Given the description of an element on the screen output the (x, y) to click on. 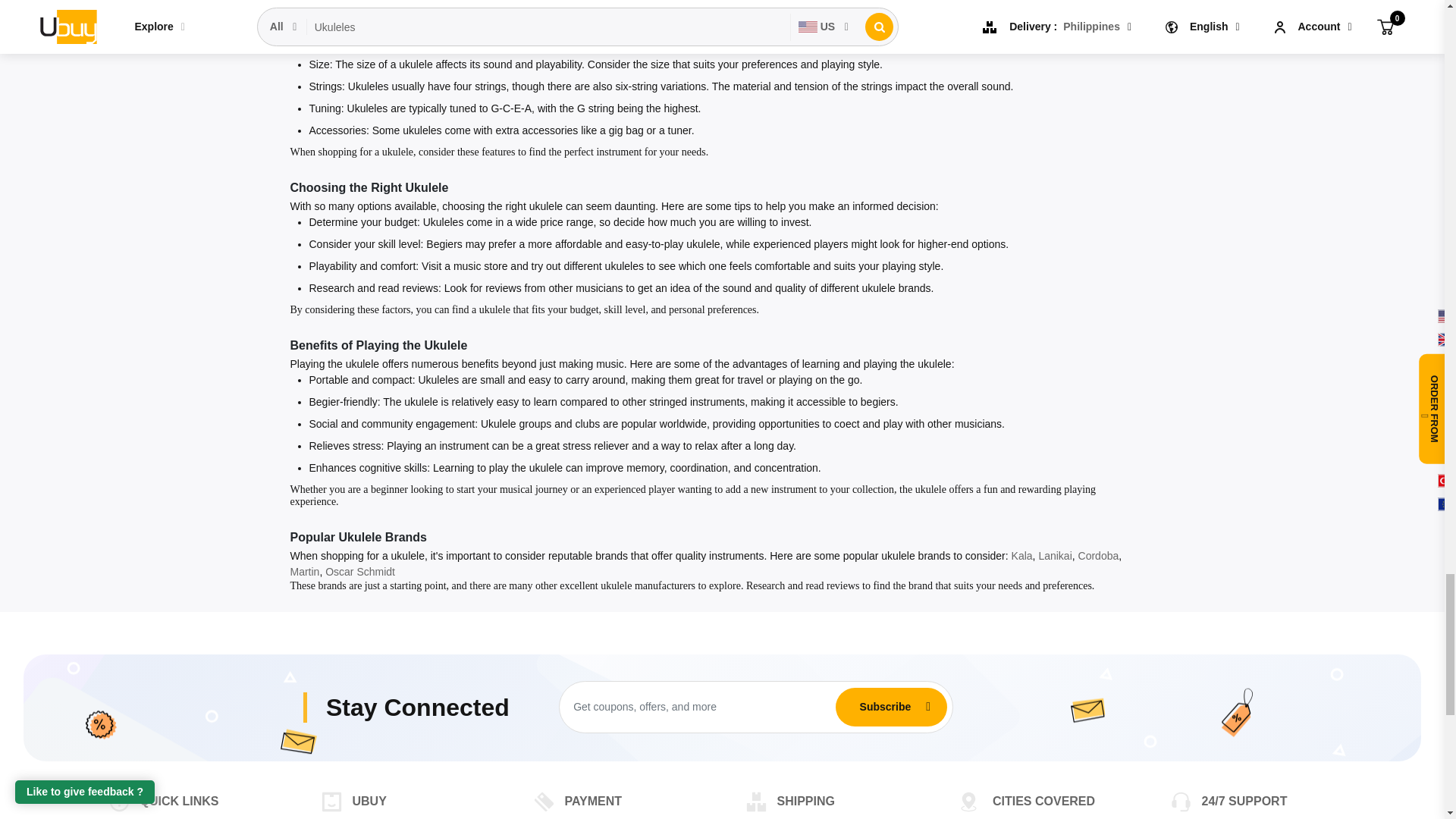
Subscribe (885, 706)
